Given the description of an element on the screen output the (x, y) to click on. 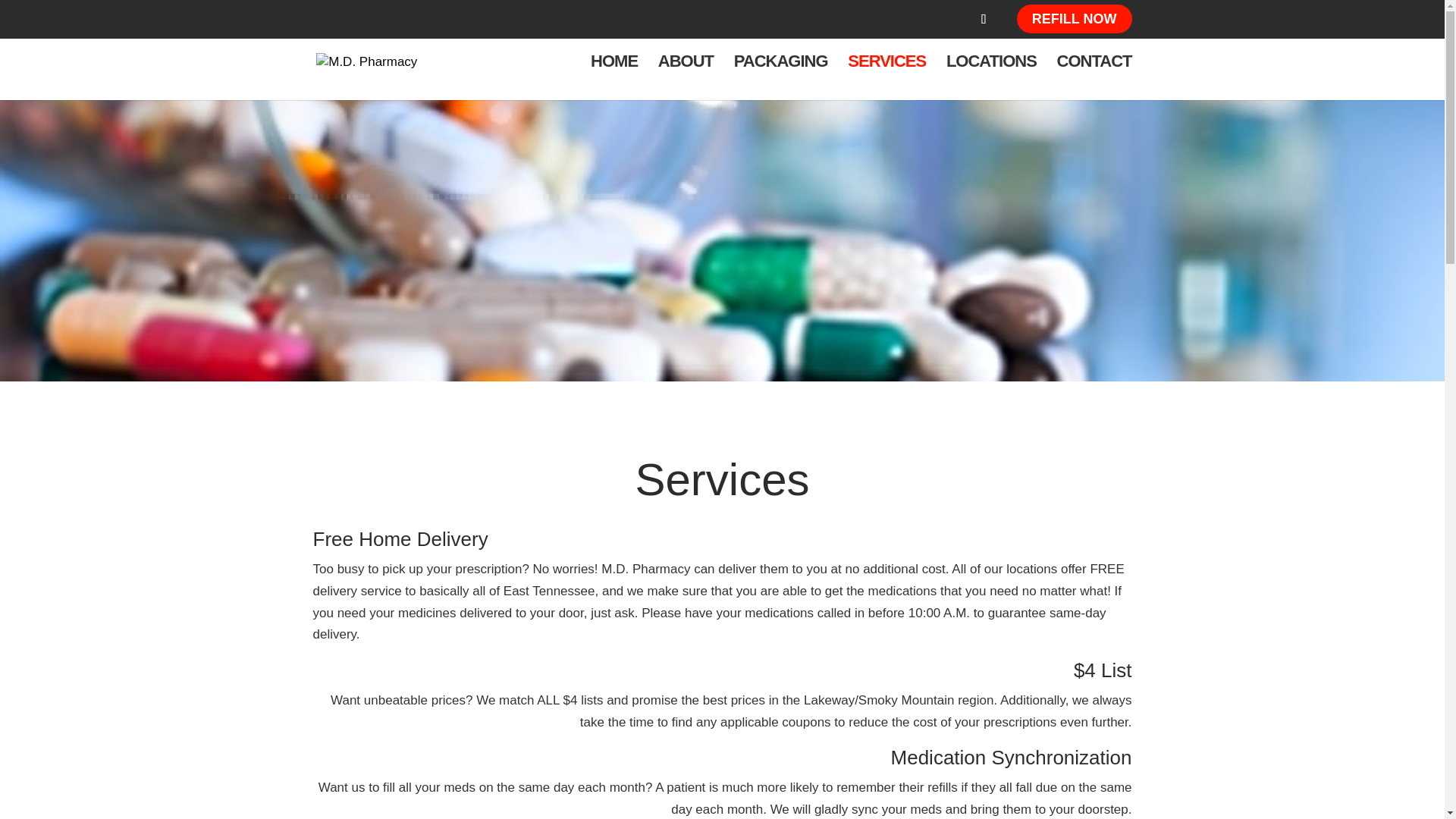
LOCATIONS (991, 77)
PACKAGING (780, 77)
REFILL NOW (1074, 18)
SERVICES (886, 77)
HOME (614, 77)
CONTACT (1094, 77)
ABOUT (685, 77)
